Given the description of an element on the screen output the (x, y) to click on. 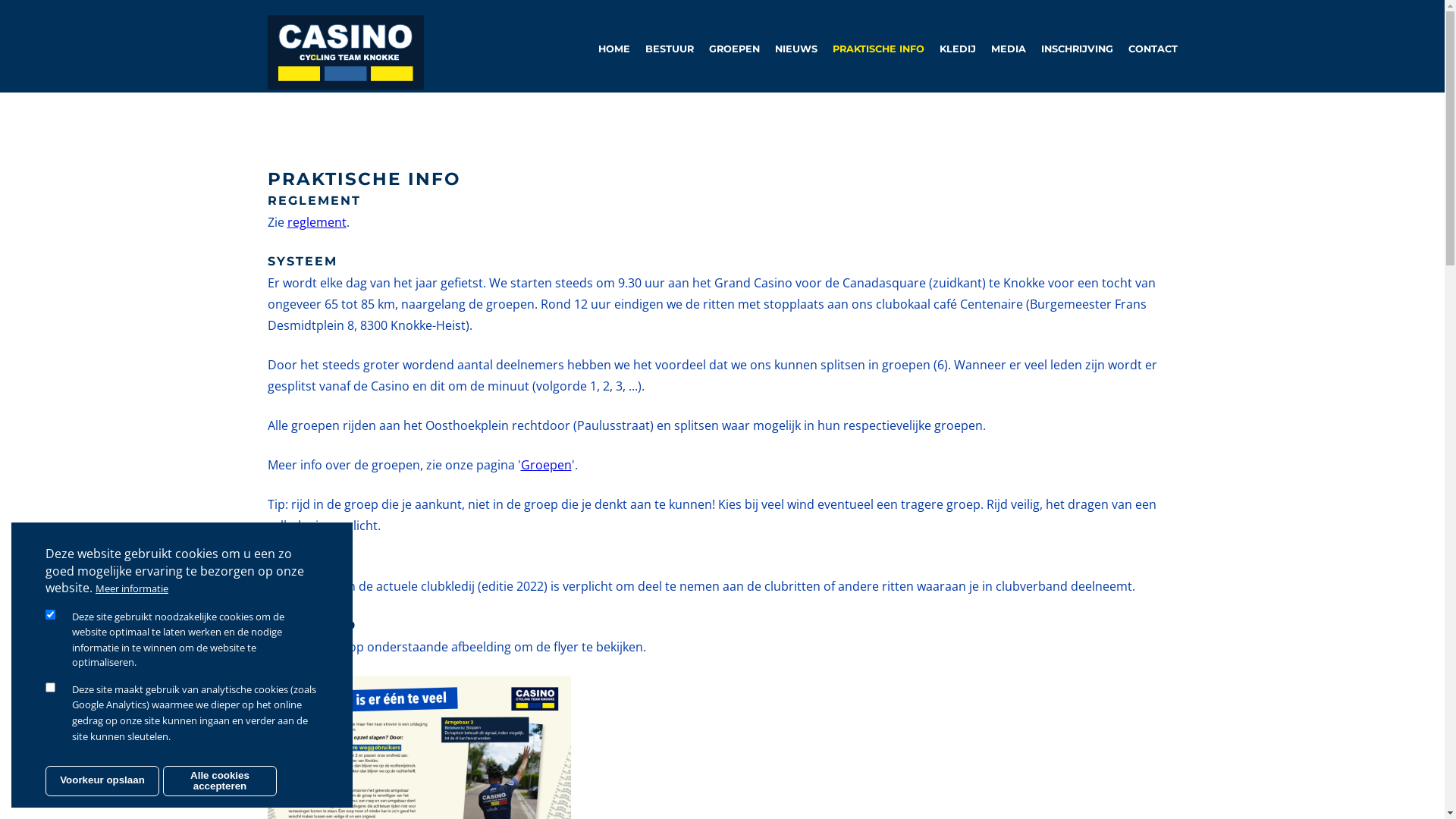
INSCHRIJVING Element type: text (1068, 48)
Meer informatie Element type: text (131, 588)
MEDIA Element type: text (1000, 48)
reglement Element type: text (315, 221)
Groepen Element type: text (545, 464)
NIEUWS Element type: text (788, 48)
Skip to main content Element type: text (0, 0)
BESTUUR Element type: text (661, 48)
PRAKTISCHE INFO Element type: text (870, 48)
Voorkeur opslaan Element type: text (102, 780)
GROEPEN Element type: text (726, 48)
hier Element type: text (318, 646)
CONTACT Element type: text (1145, 48)
Alle cookies accepteren Element type: text (219, 780)
HOME Element type: text (605, 48)
KLEDIJ Element type: text (949, 48)
